Given the description of an element on the screen output the (x, y) to click on. 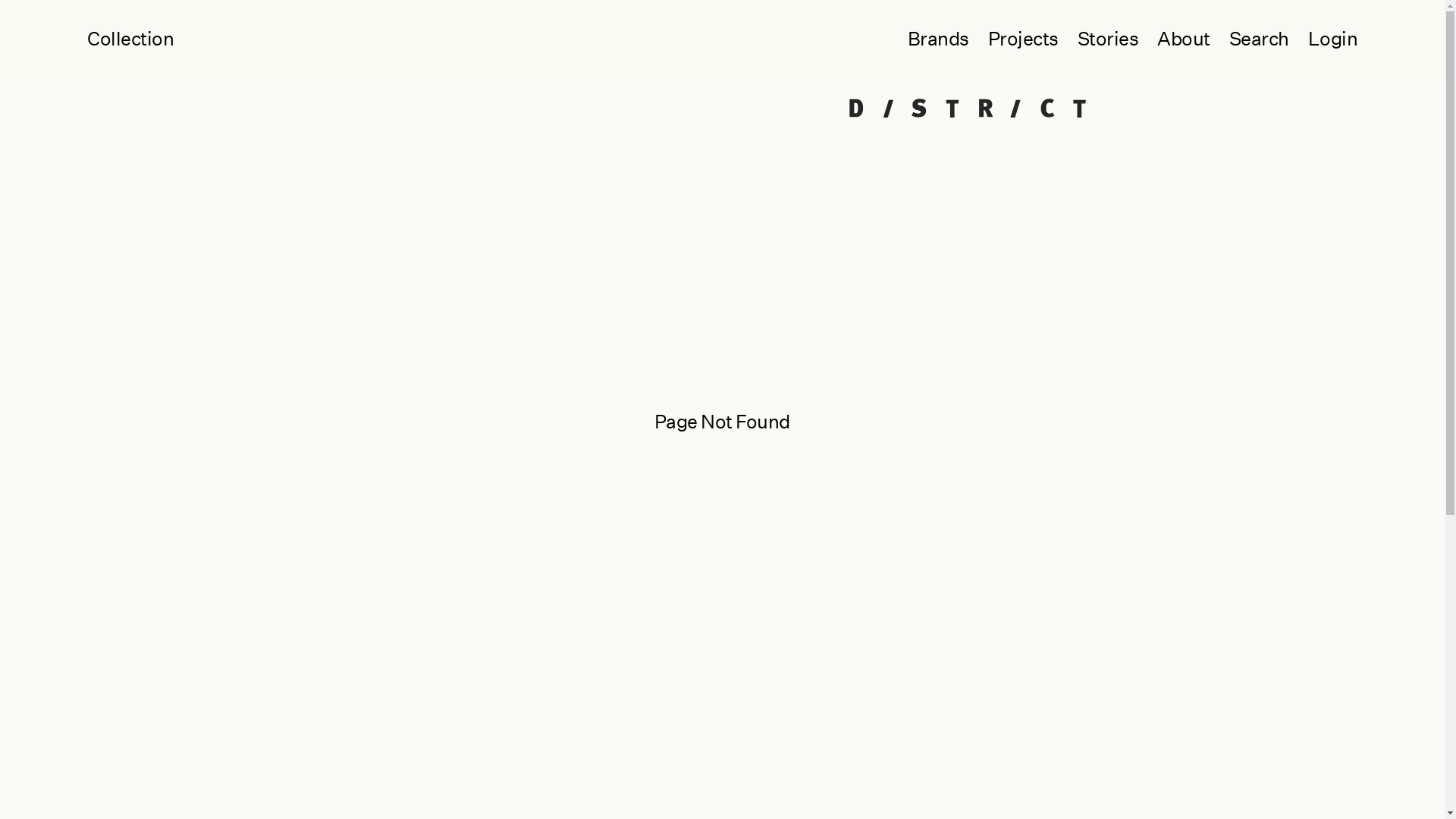
Login Element type: text (1322, 39)
Collection Element type: text (130, 39)
Stories Element type: text (1097, 39)
Projects Element type: text (1012, 39)
Brands Element type: text (928, 39)
Search Element type: text (1248, 39)
About Element type: text (1174, 39)
